Given the description of an element on the screen output the (x, y) to click on. 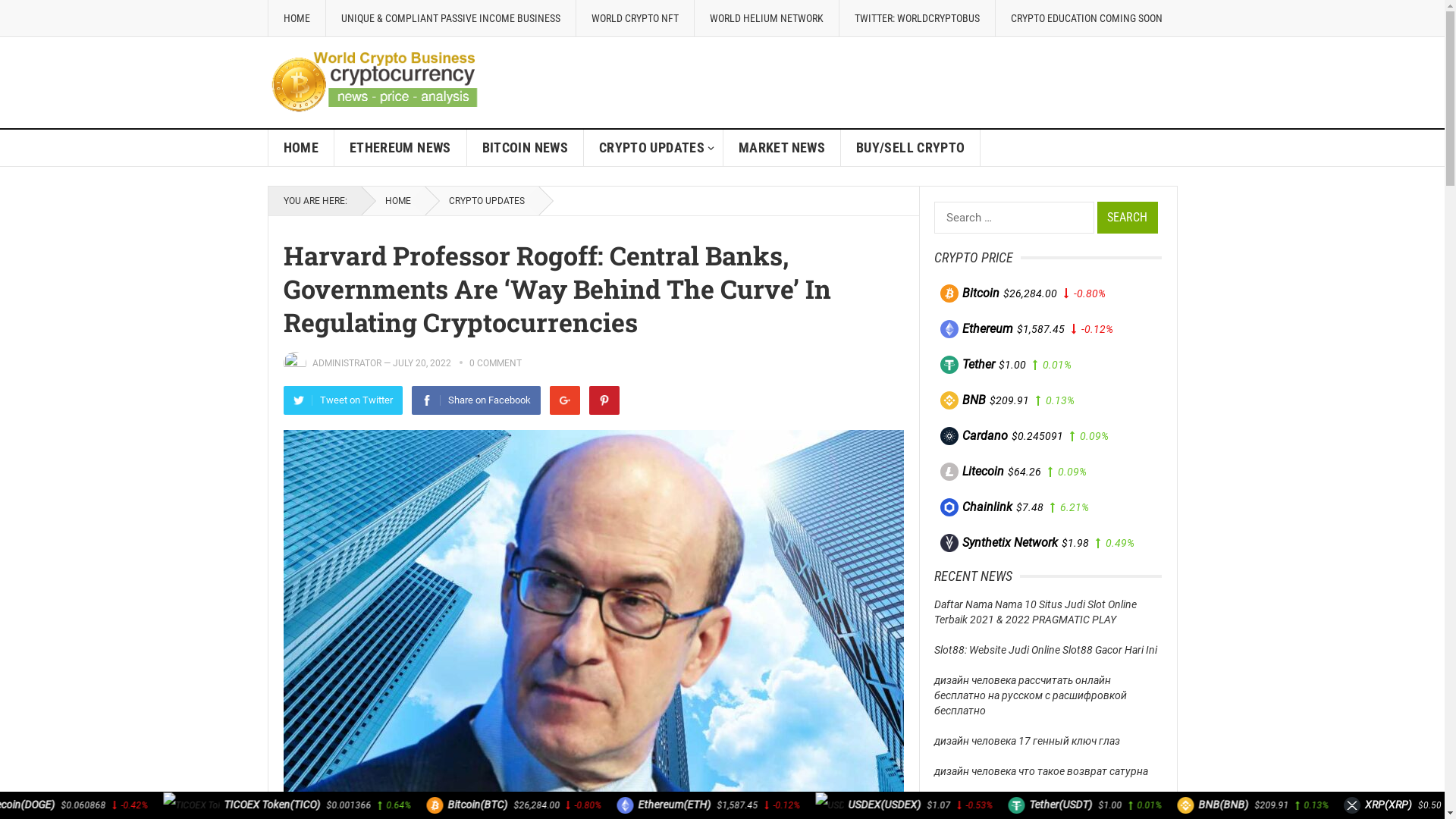
Share on Facebook Element type: text (475, 399)
BITCOIN NEWS Element type: text (525, 147)
HOME Element type: text (301, 147)
Pinterest Element type: text (603, 399)
Search Element type: text (1126, 217)
Slot88: Website Judi Online Slot88 Gacor Hari Ini Element type: text (1045, 649)
CRYPTO UPDATES Element type: text (480, 200)
TWITTER: WORLDCRYPTOBUS Element type: text (916, 18)
MARKET NEWS Element type: text (781, 147)
HOME Element type: text (391, 200)
HOME Element type: text (295, 18)
BUY/SELL CRYPTO Element type: text (910, 147)
Google+ Element type: text (564, 399)
CRYPTO EDUCATION COMING SOON Element type: text (1085, 18)
0 COMMENT Element type: text (494, 362)
WORLD HELIUM NETWORK Element type: text (765, 18)
ADMINISTRATOR Element type: text (346, 362)
WORLD CRYPTO NFT Element type: text (633, 18)
ETHEREUM NEWS Element type: text (400, 147)
CRYPTO UPDATES Element type: text (653, 147)
UNIQUE & COMPLIANT PASSIVE INCOME BUSINESS Element type: text (449, 18)
Tweet on Twitter Element type: text (342, 399)
